Given the description of an element on the screen output the (x, y) to click on. 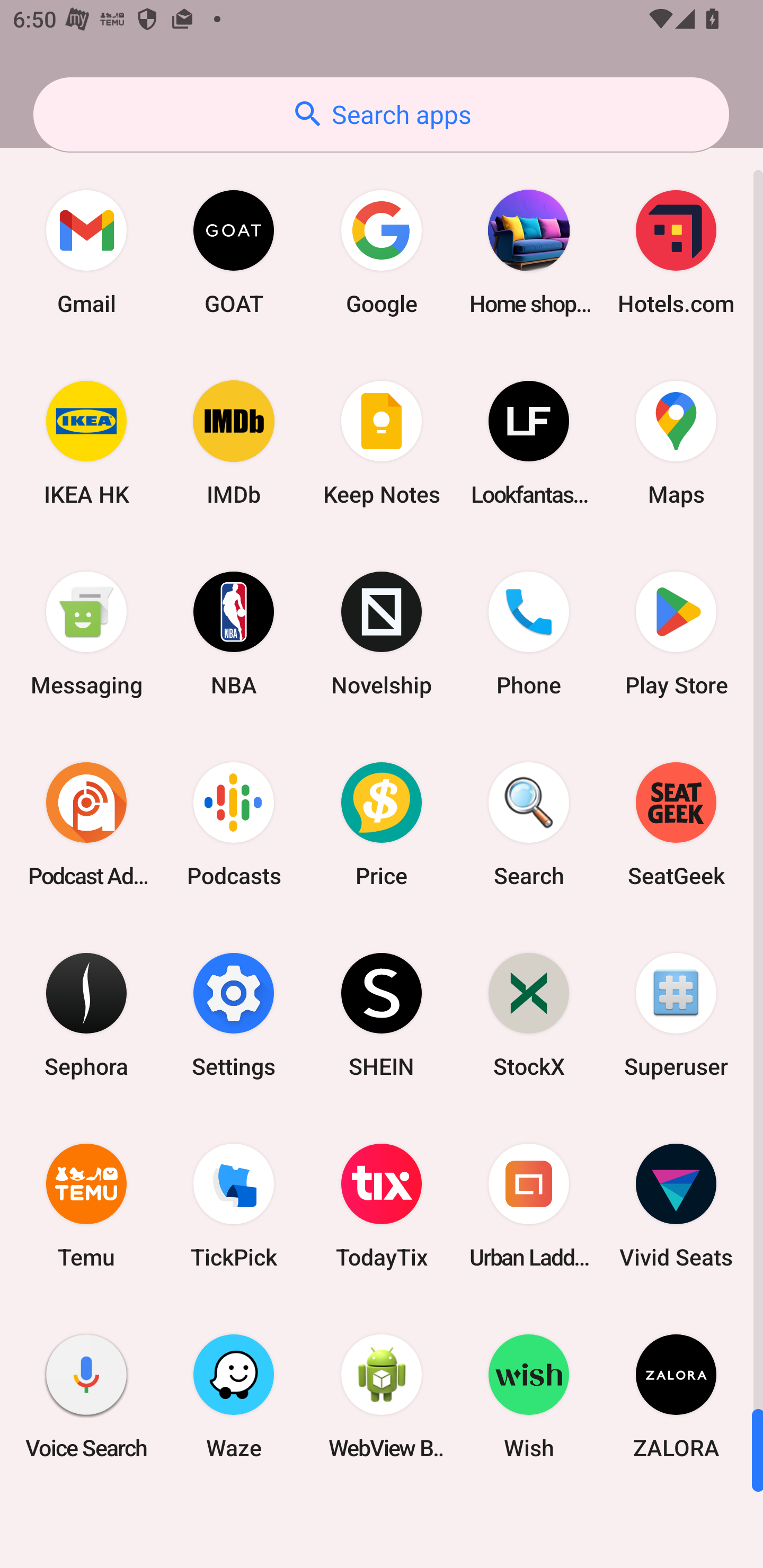
  Search apps (381, 114)
Gmail (86, 252)
GOAT (233, 252)
Google (381, 252)
Home shopping (528, 252)
Hotels.com (676, 252)
IKEA HK (86, 442)
IMDb (233, 442)
Keep Notes (381, 442)
Lookfantastic (528, 442)
Maps (676, 442)
Messaging (86, 633)
NBA (233, 633)
Novelship (381, 633)
Phone (528, 633)
Play Store (676, 633)
Podcast Addict (86, 823)
Podcasts (233, 823)
Price (381, 823)
Search (528, 823)
SeatGeek (676, 823)
Sephora (86, 1014)
Settings (233, 1014)
SHEIN (381, 1014)
StockX (528, 1014)
Superuser (676, 1014)
Temu (86, 1205)
TickPick (233, 1205)
TodayTix (381, 1205)
Urban Ladder (528, 1205)
Vivid Seats (676, 1205)
Voice Search (86, 1396)
Waze (233, 1396)
WebView Browser Tester (381, 1396)
Wish (528, 1396)
ZALORA (676, 1396)
